Given the description of an element on the screen output the (x, y) to click on. 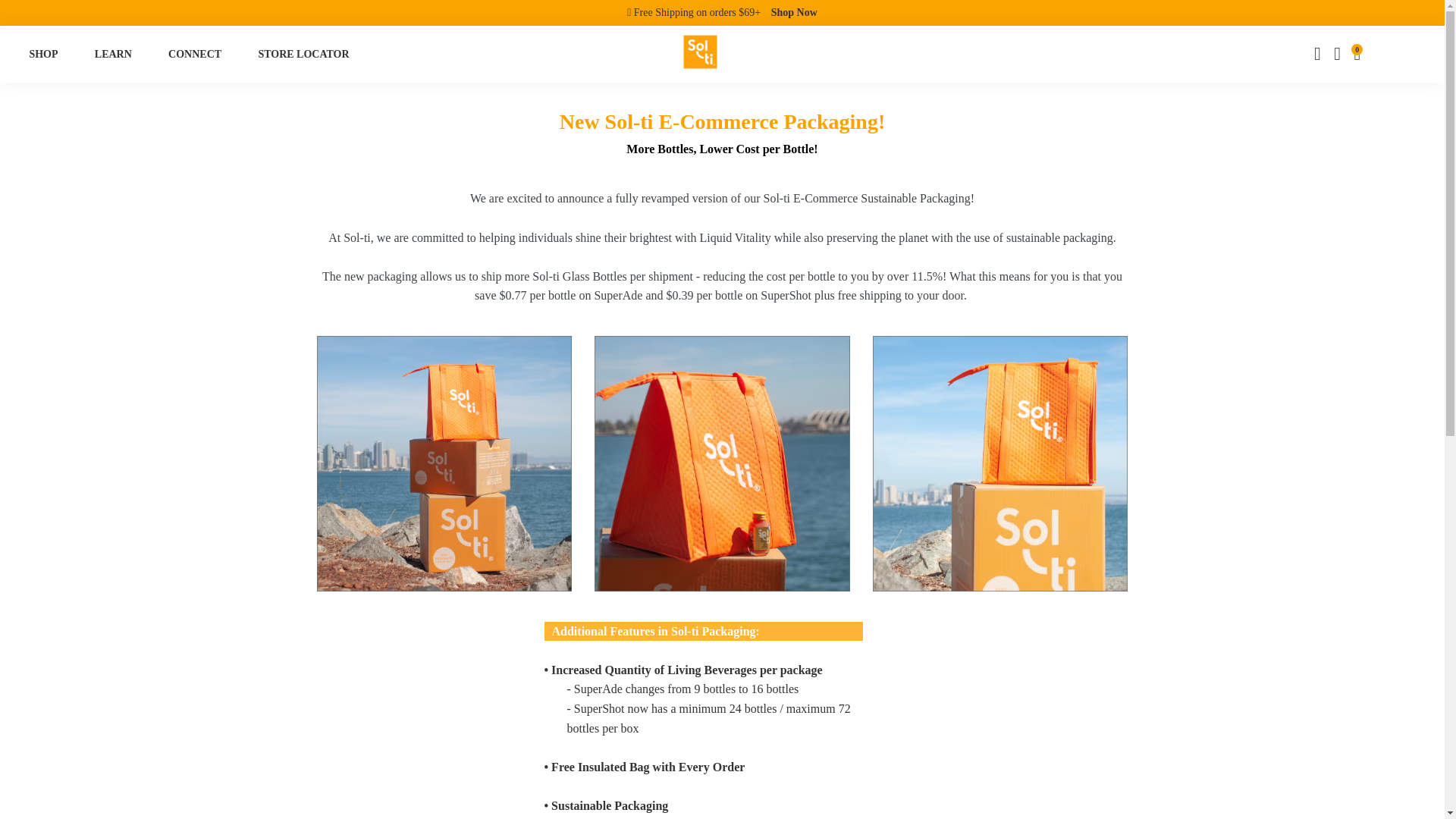
Shop page  (793, 12)
Shop Now (793, 12)
LEARN (113, 53)
SHOP (42, 53)
STORE LOCATOR (303, 53)
CONNECT (193, 53)
